Given the description of an element on the screen output the (x, y) to click on. 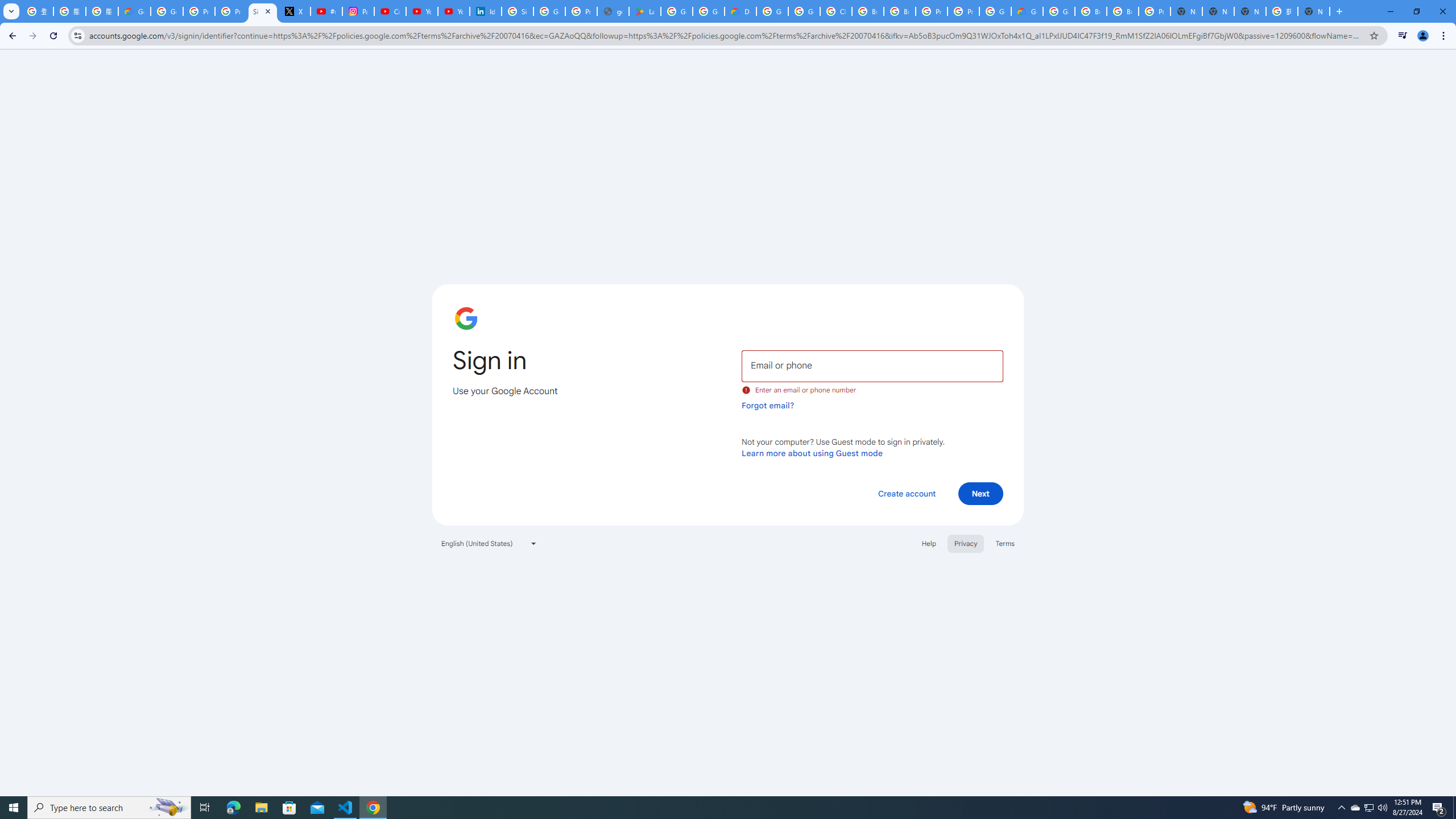
Terms (1005, 542)
Google Workspace - Specific Terms (708, 11)
#nbabasketballhighlights - YouTube (326, 11)
New Tab (1313, 11)
Email or phone (871, 365)
